Given the description of an element on the screen output the (x, y) to click on. 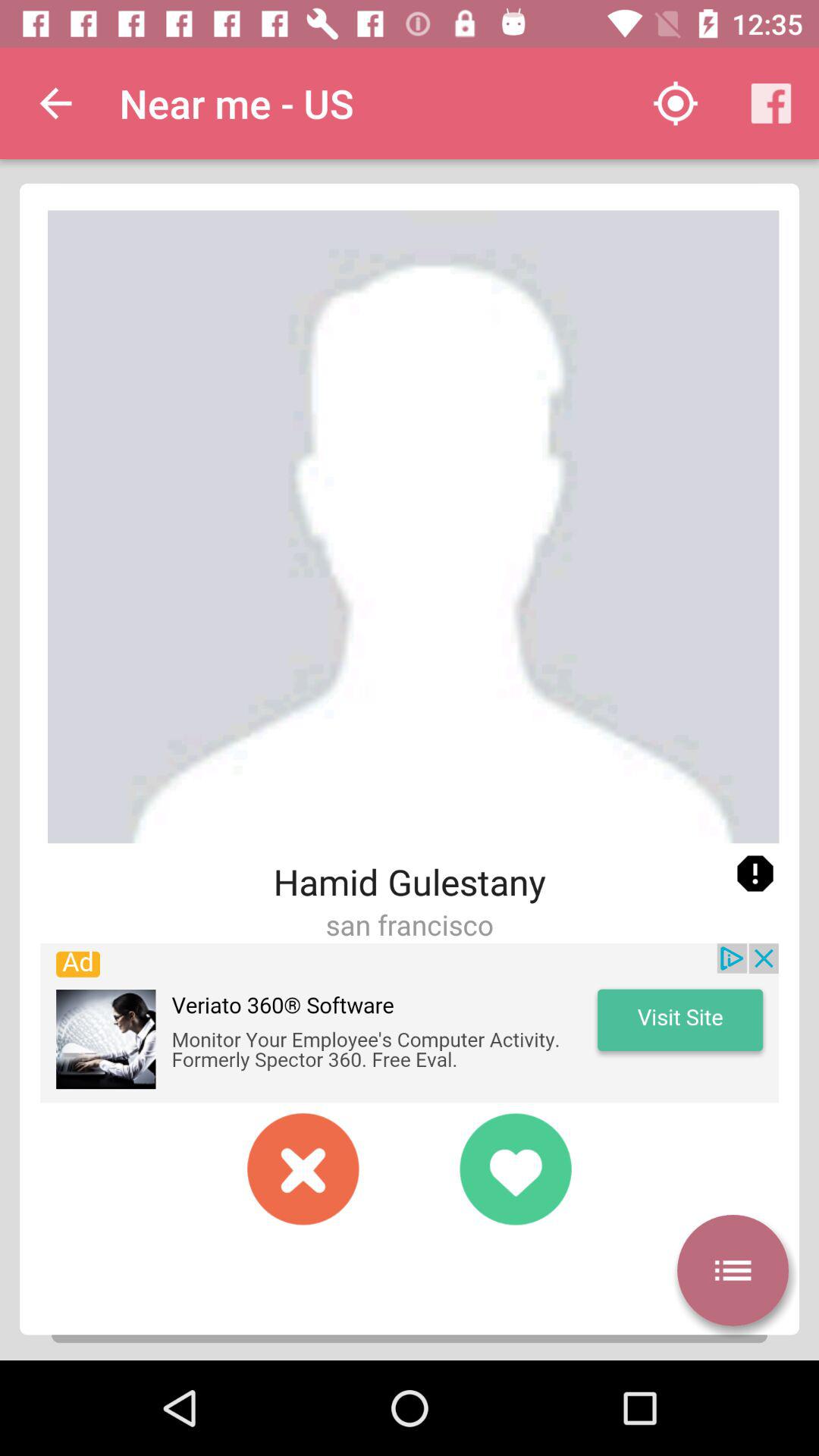
reject this user (303, 1169)
